Given the description of an element on the screen output the (x, y) to click on. 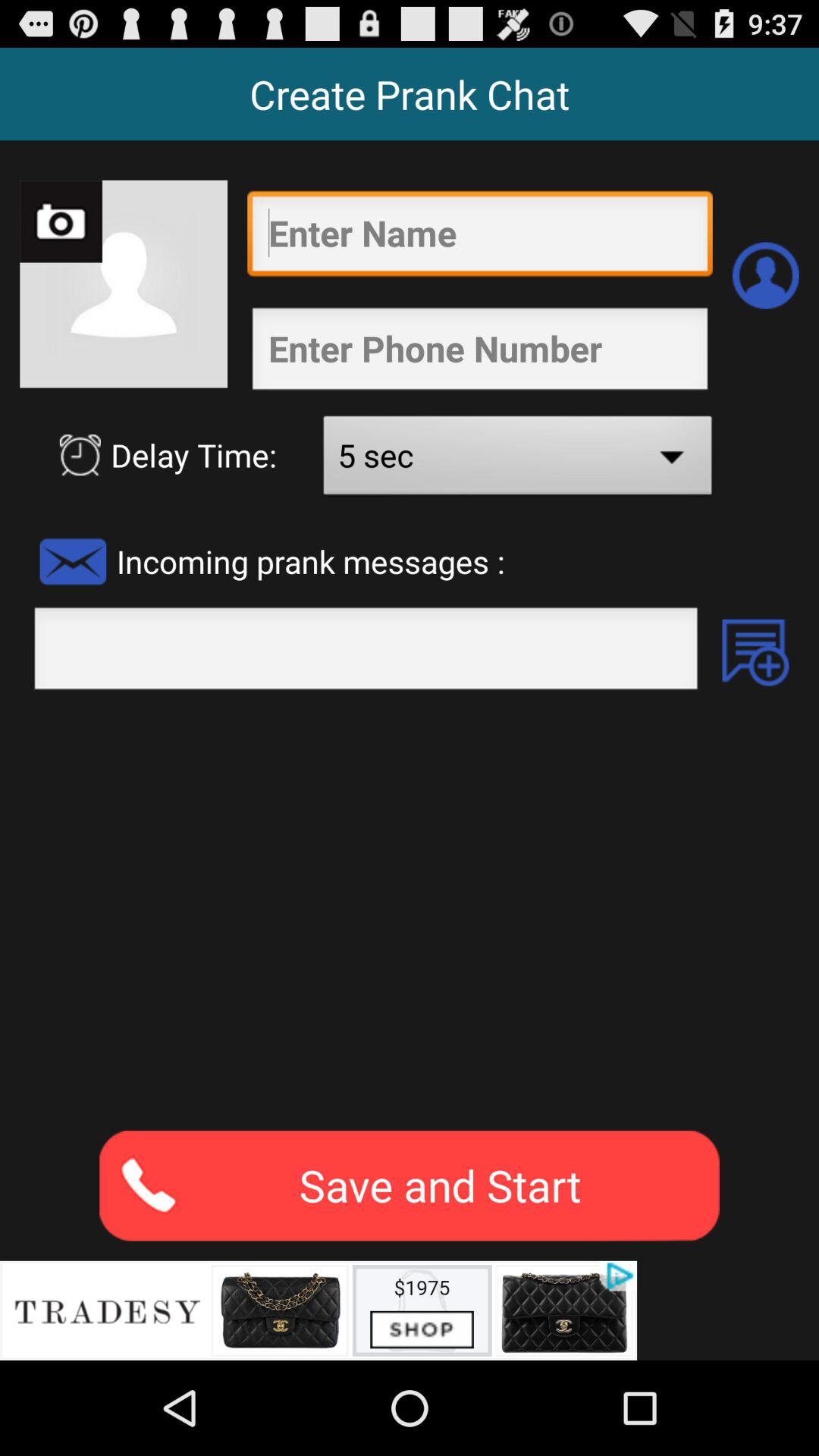
add option (755, 652)
